Given the description of an element on the screen output the (x, y) to click on. 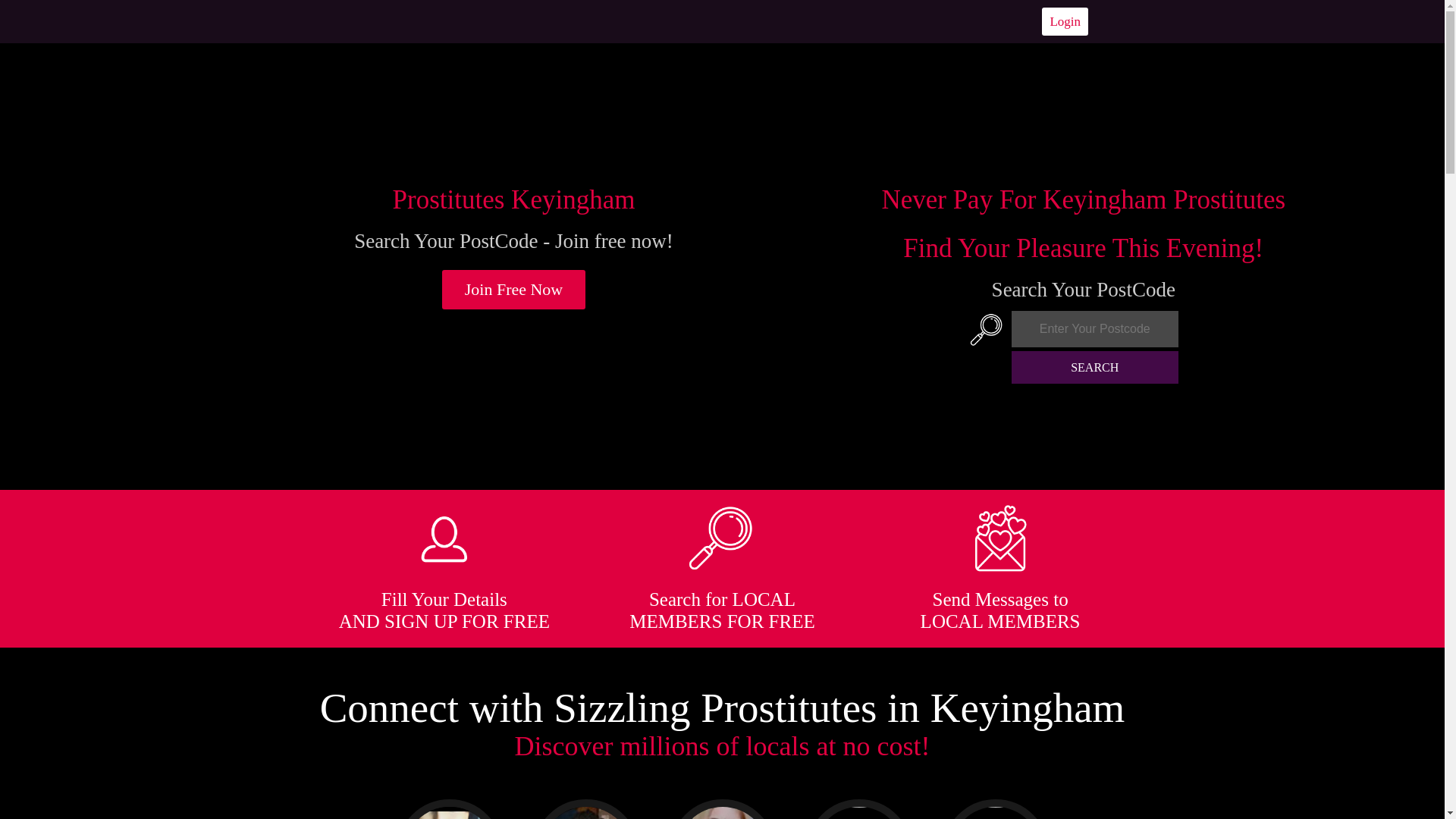
Login (1064, 21)
Join Free Now (514, 289)
Join (514, 289)
SEARCH (1094, 367)
Login (1064, 21)
